Given the description of an element on the screen output the (x, y) to click on. 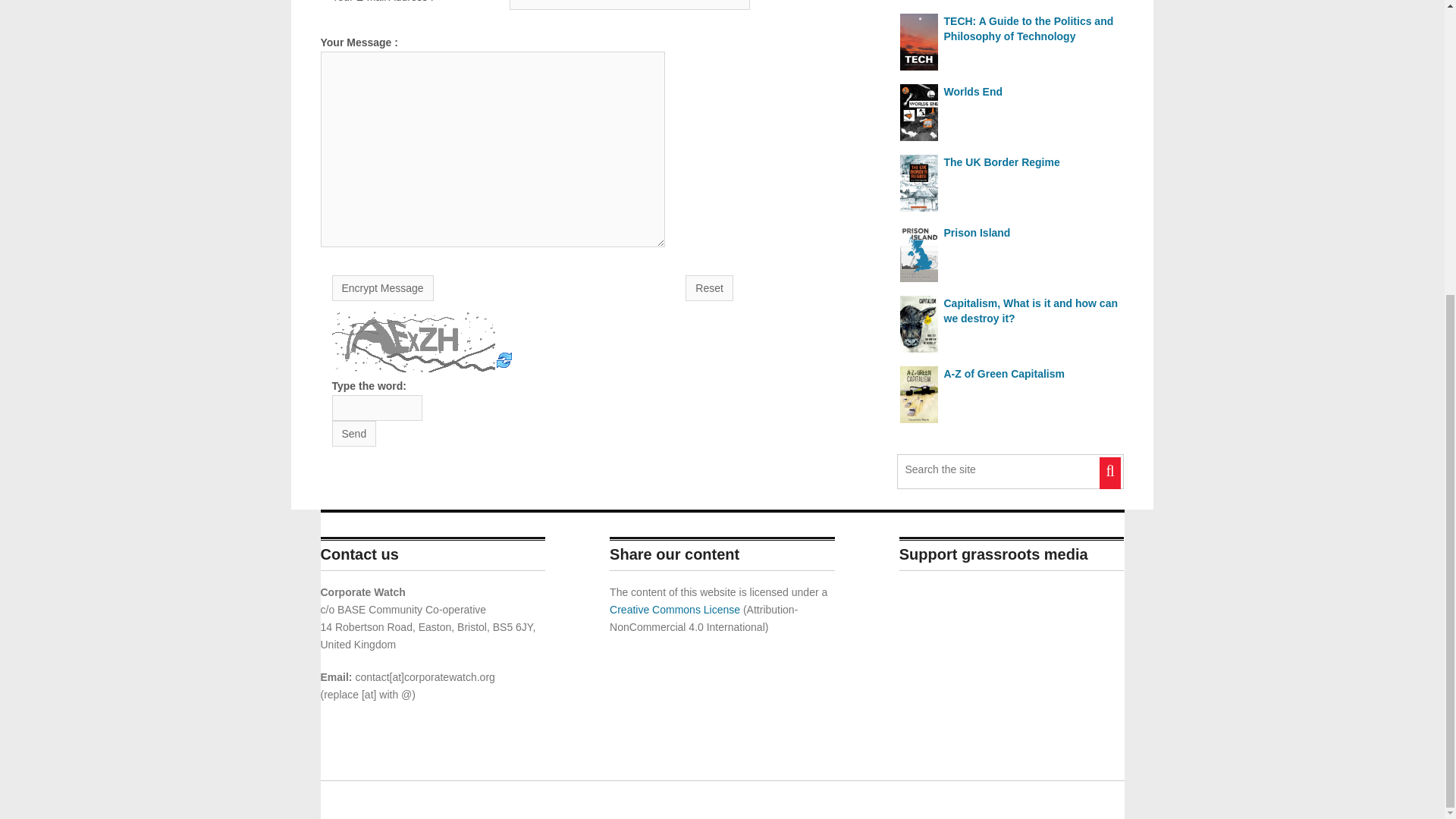
Capitalism, What is it and how can we destroy it? (1010, 310)
Encrypt Message (382, 288)
TECH: A Guide to the Politics and Philosophy of Technology (1010, 28)
Worlds End (1010, 91)
Prison Island (1010, 232)
The UK Border Regime (1010, 161)
Search the site (993, 469)
Reset (709, 288)
Creative Commons License (674, 609)
Send (354, 433)
